Given the description of an element on the screen output the (x, y) to click on. 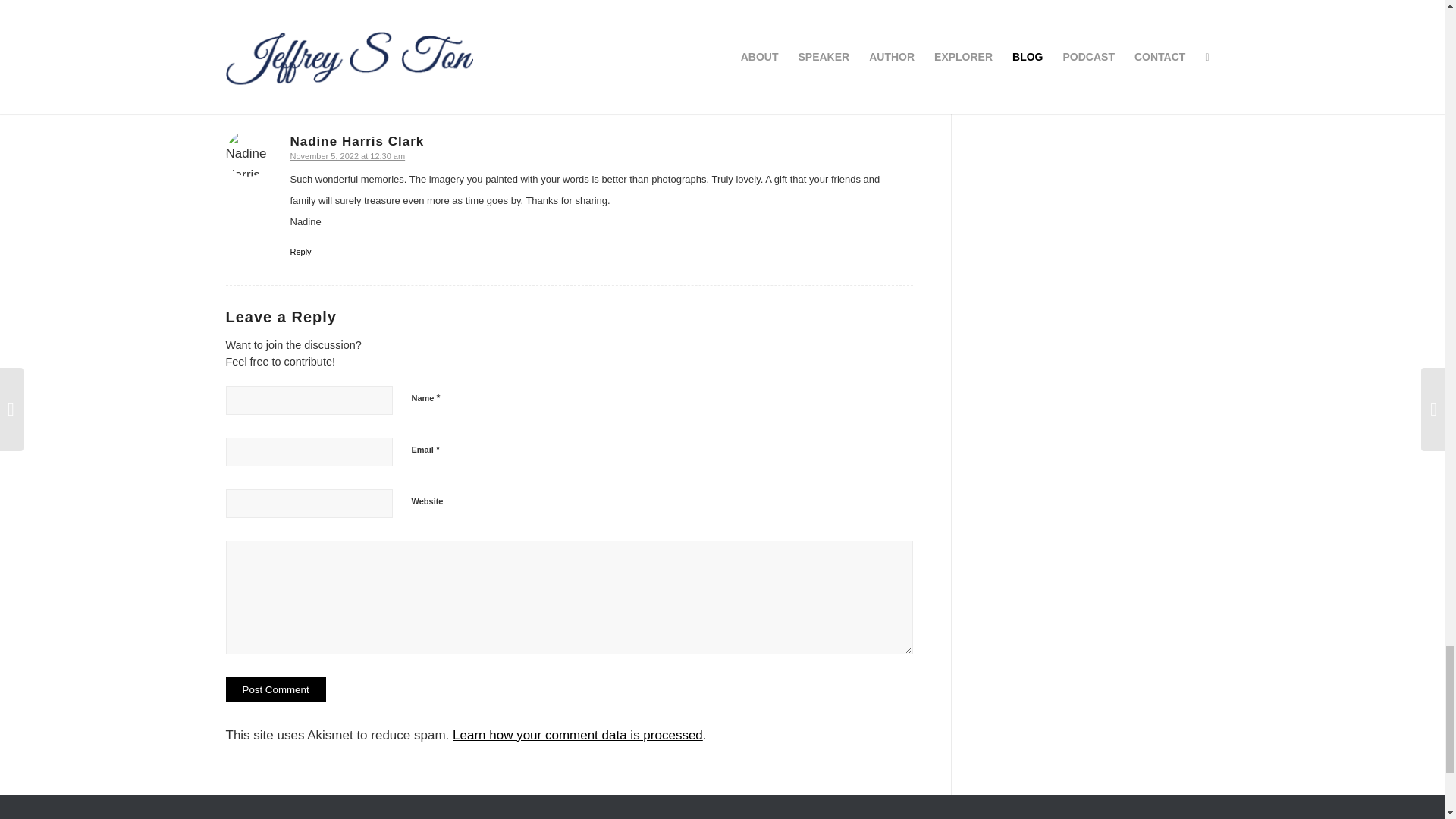
November 5, 2022 at 12:30 am (346, 155)
November 4, 2022 at 12:44 pm (346, 20)
Post Comment (275, 689)
Reply (300, 73)
Learn how your comment data is processed (577, 735)
Post Comment (275, 689)
Reply (300, 251)
